Given the description of an element on the screen output the (x, y) to click on. 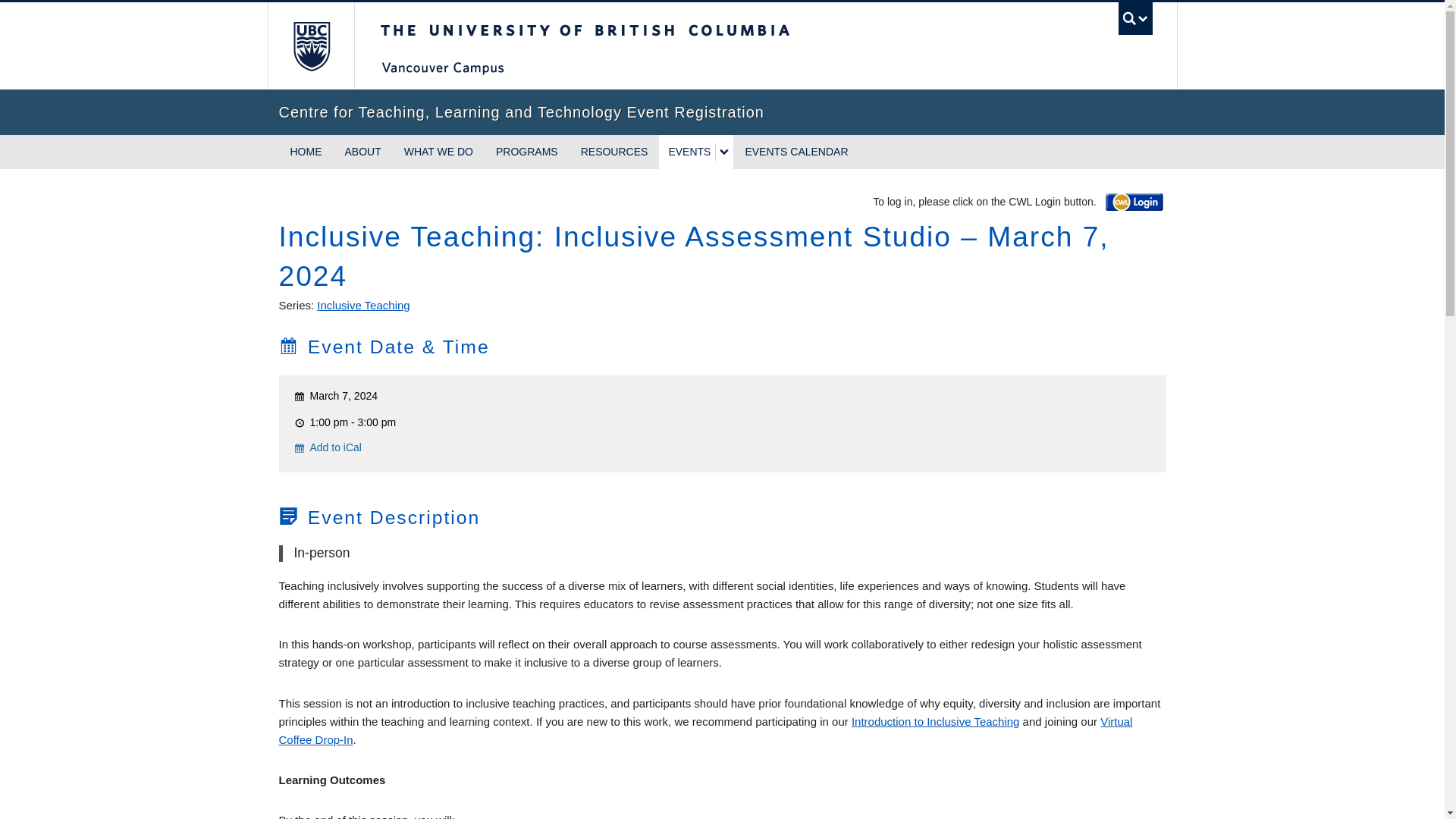
EVENTS (687, 151)
Log into this account (1134, 201)
ABOUT (363, 151)
EVENTS CALENDAR (796, 151)
WHAT WE DO (438, 151)
The University of British Columbia (635, 45)
UBC Search (1135, 18)
PROGRAMS (526, 151)
HOME (306, 151)
